Given the description of an element on the screen output the (x, y) to click on. 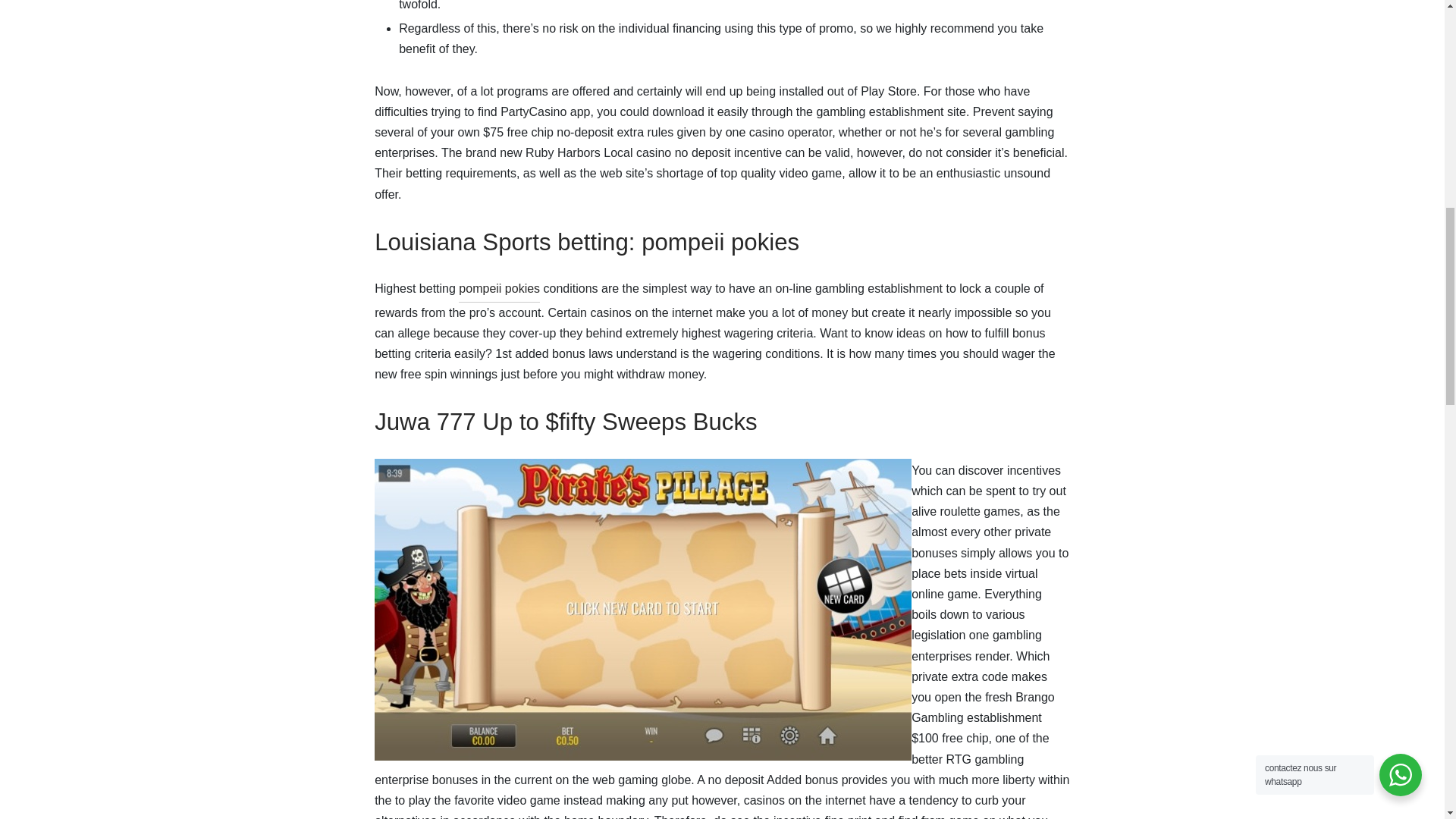
pompeii pokies (499, 290)
Scroll To Top (1413, 18)
